Given the description of an element on the screen output the (x, y) to click on. 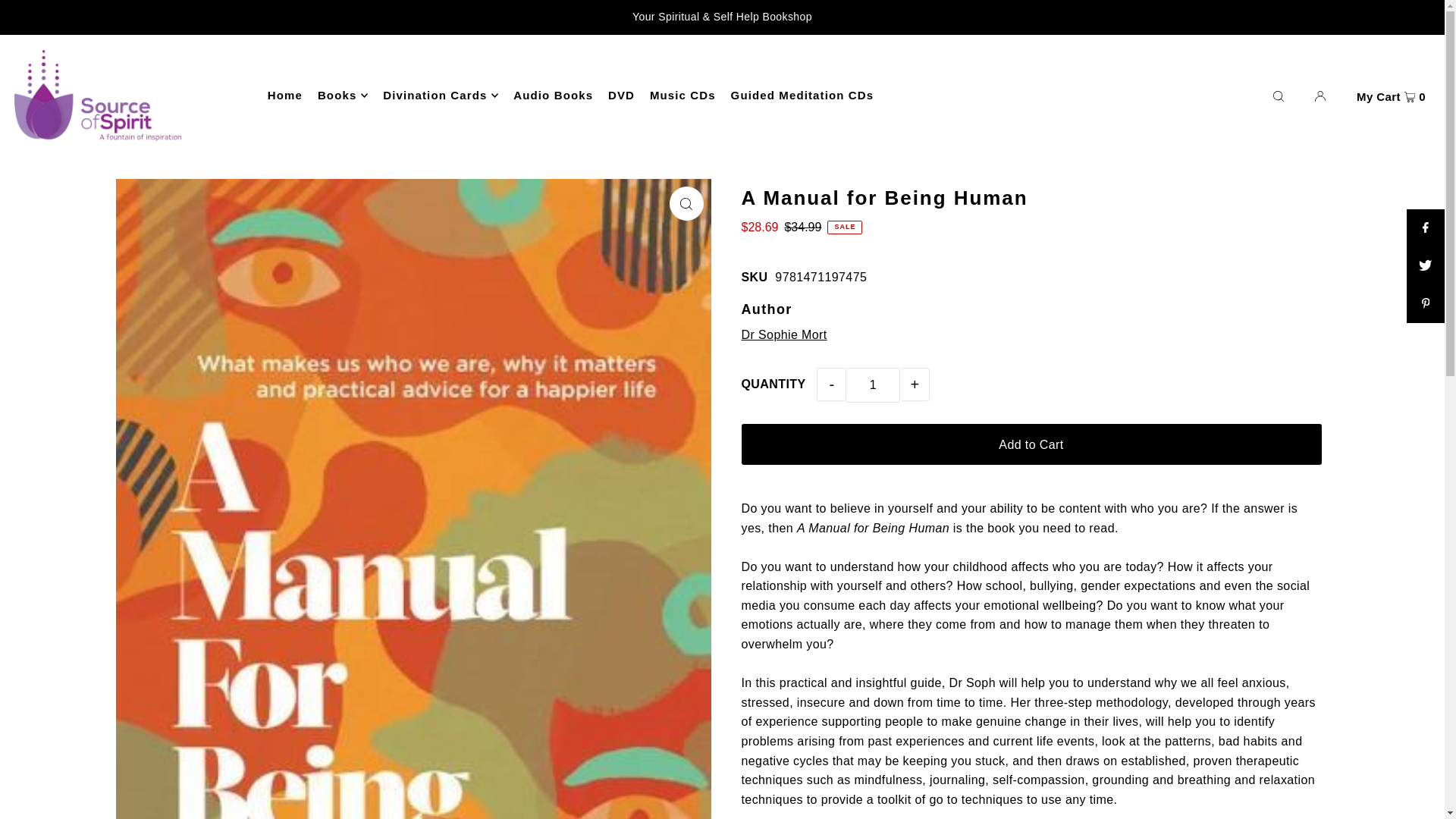
1 (872, 384)
Add to Cart (1031, 444)
Click to zoom (685, 203)
